Given the description of an element on the screen output the (x, y) to click on. 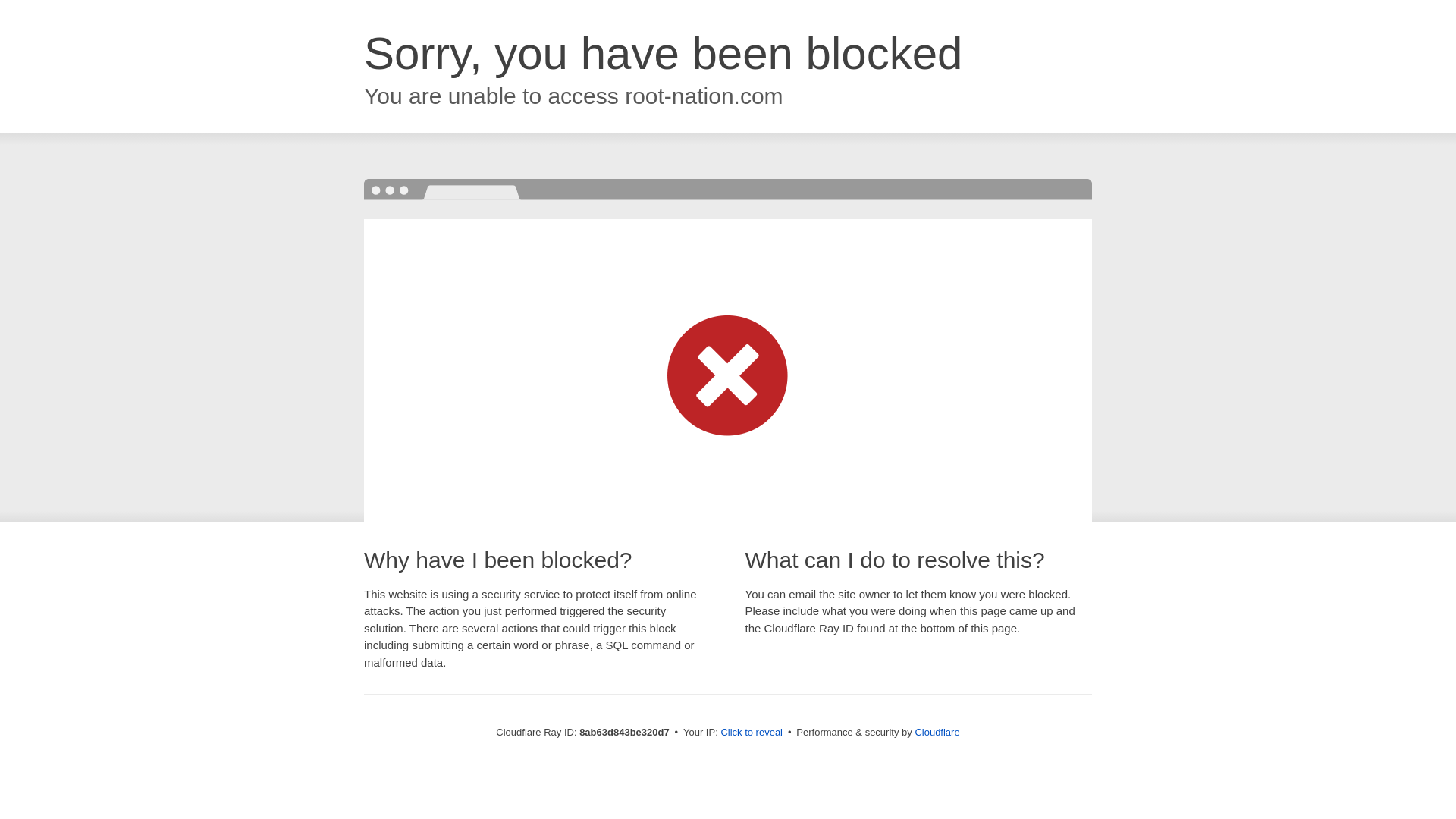
Cloudflare (936, 731)
Click to reveal (751, 732)
